Given the description of an element on the screen output the (x, y) to click on. 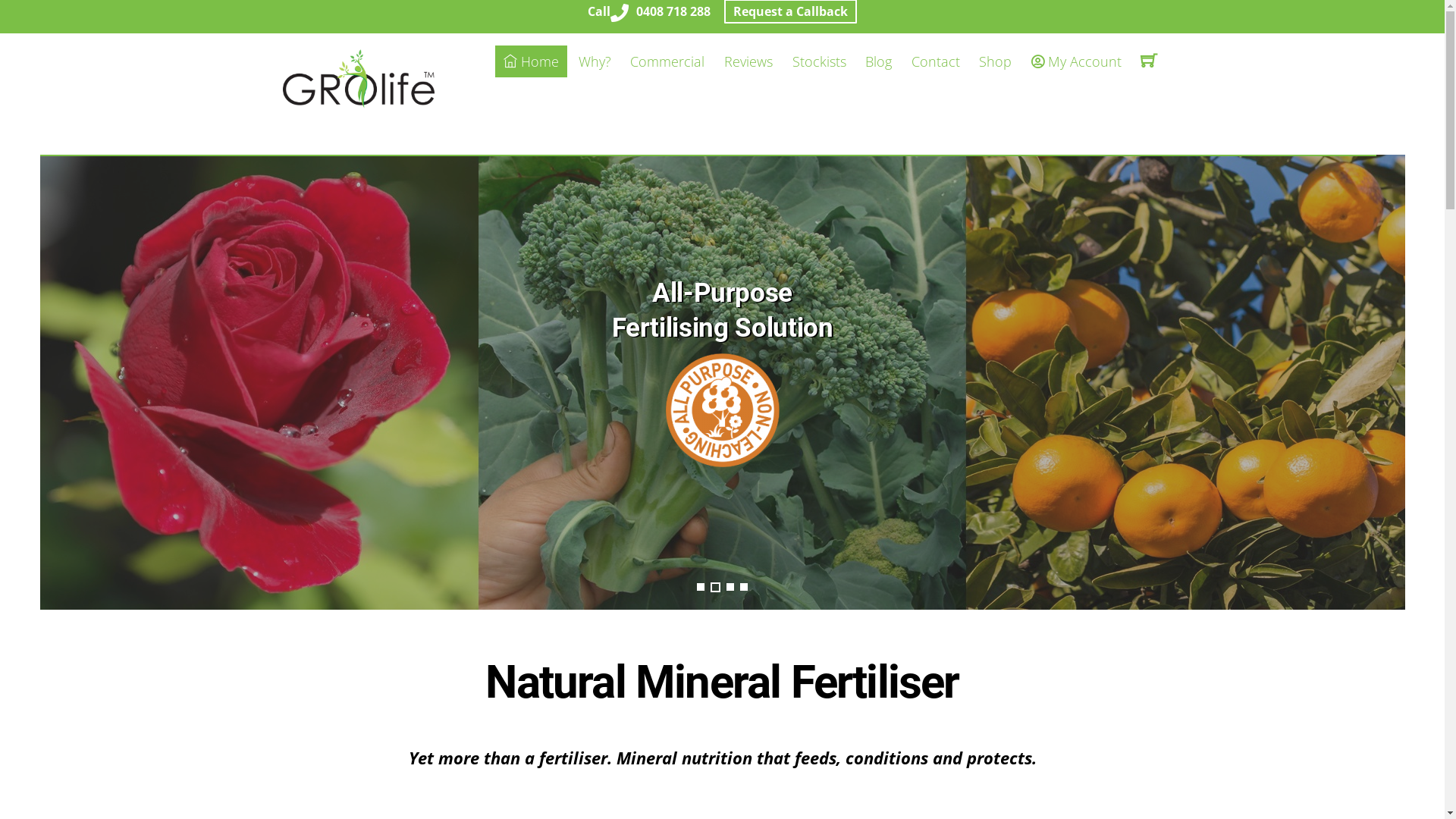
Stockists Element type: text (819, 61)
Reviews Element type: text (748, 61)
Call0408 718 288 Element type: text (648, 11)
Contact Element type: text (935, 61)
Shop Element type: text (995, 61)
My Account Element type: text (1075, 61)
Blog Element type: text (878, 61)
Home Element type: text (531, 61)
GROlife Pty Ltd Element type: hover (357, 102)
GROlife Logo Element type: hover (357, 78)
Why? Element type: text (594, 61)
Commercial Element type: text (667, 61)
